Given the description of an element on the screen output the (x, y) to click on. 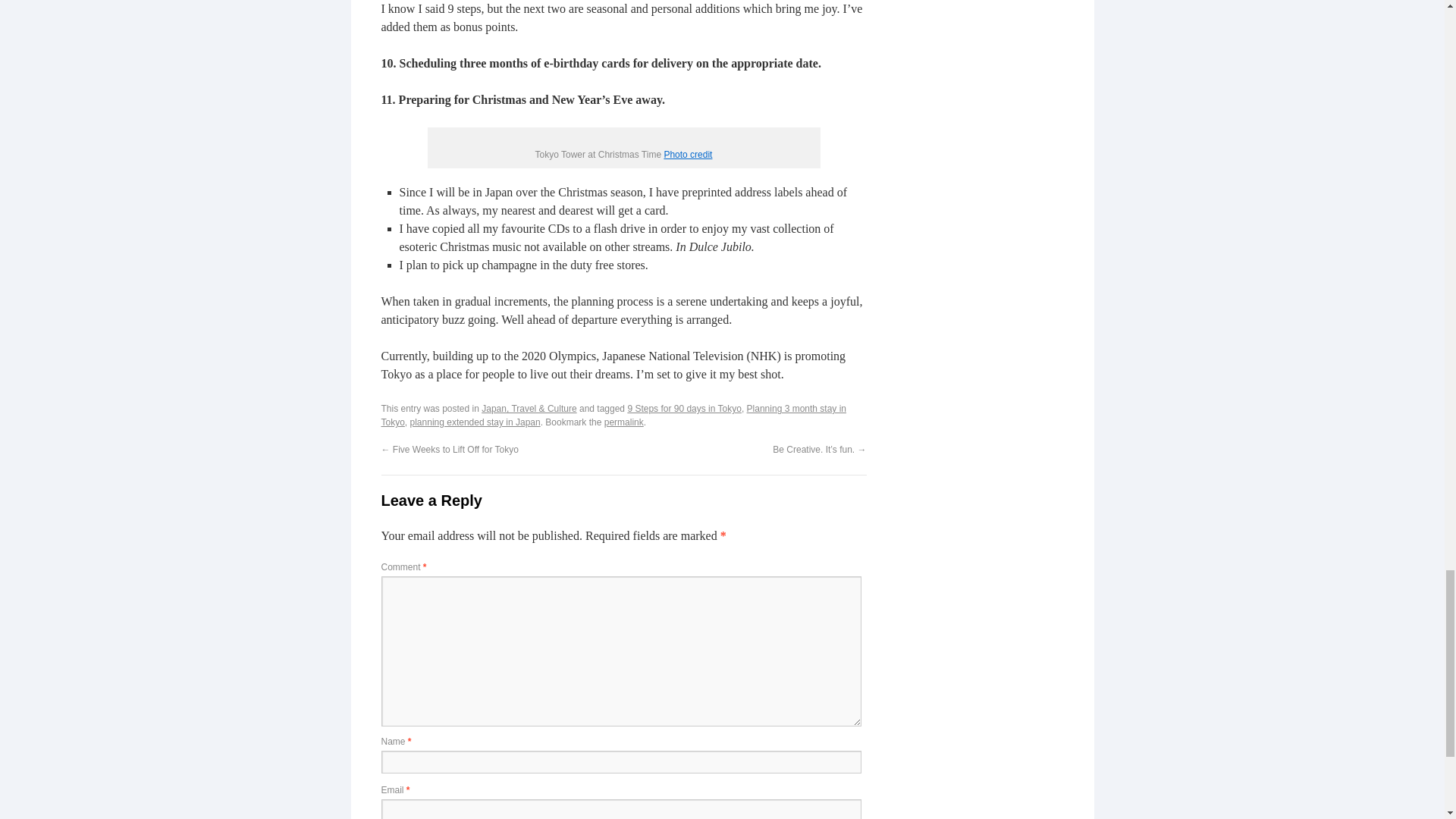
Permalink to Nine Steps to Organizing 90 Days in Tokyo (623, 421)
Planning 3 month stay in Tokyo (612, 415)
Photo credit (687, 154)
planning extended stay in Japan (475, 421)
permalink (623, 421)
9 Steps for 90 days in Tokyo (684, 408)
